Given the description of an element on the screen output the (x, y) to click on. 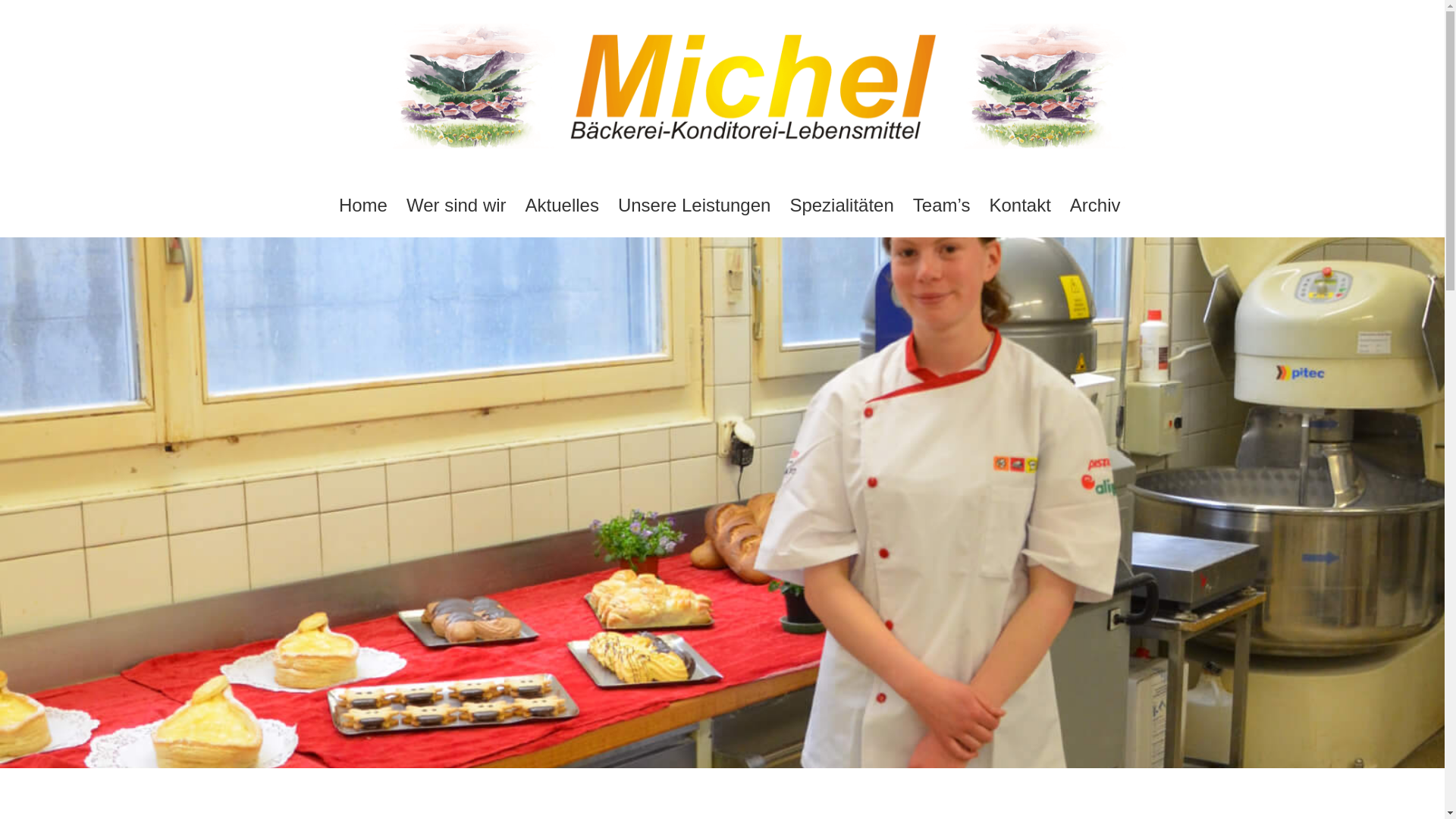
Unsere Leistungen Element type: text (694, 205)
Home Element type: text (362, 205)
Archiv Element type: text (1095, 205)
Kontakt Element type: text (1019, 205)
Wer sind wir Element type: text (456, 205)
Aktuelles Element type: text (562, 205)
